Given the description of an element on the screen output the (x, y) to click on. 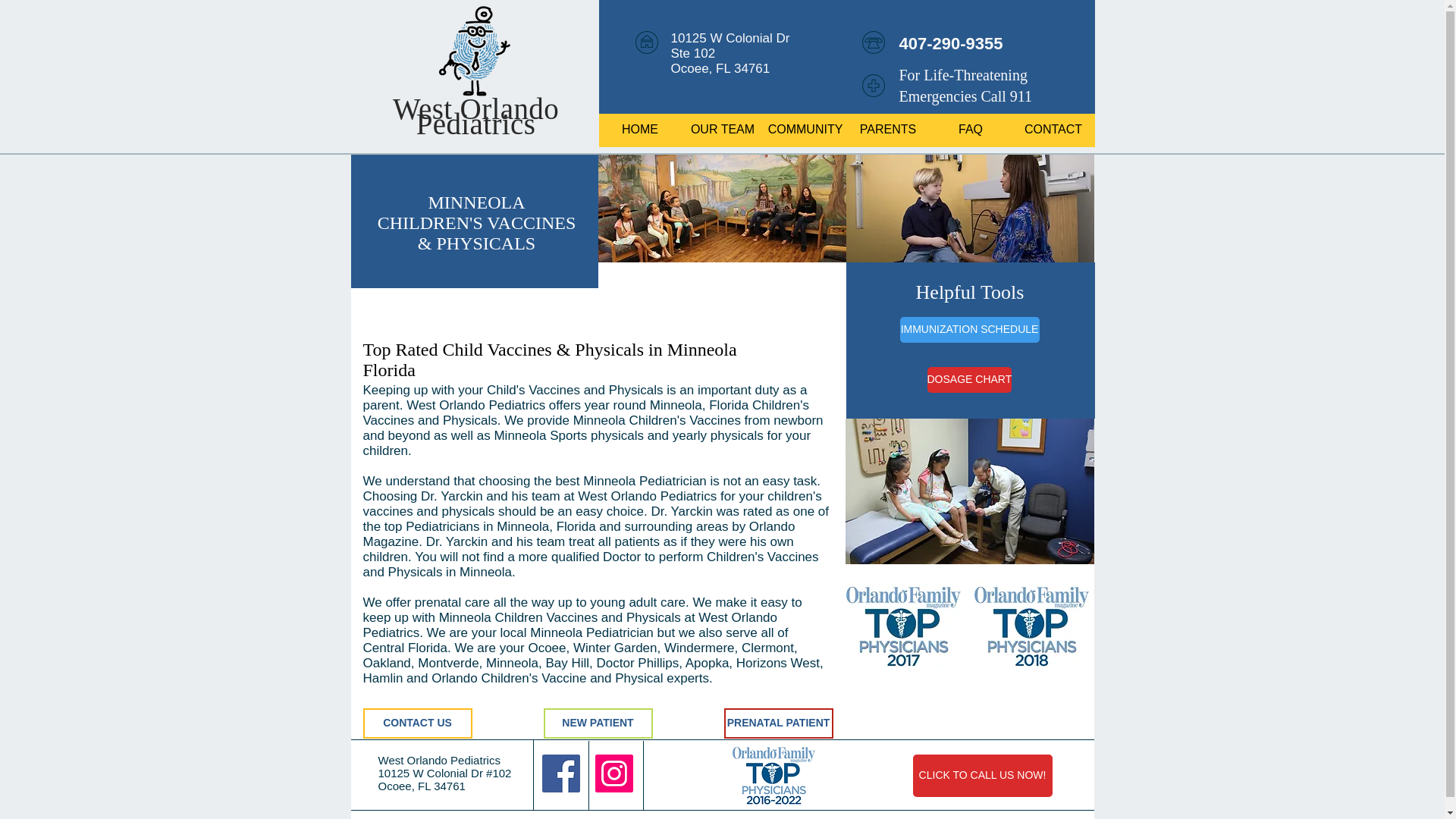
407-290-9355 (951, 43)
PARENTS (886, 129)
DOSAGE CHART (968, 379)
FAQ (970, 129)
NEW PATIENT (597, 723)
COMMUNITY (805, 129)
IMMUNIZATION SCHEDULE (969, 329)
CLICK TO CALL US NOW! (982, 775)
CONTACT US (416, 723)
OUR TEAM (721, 129)
HOME (639, 129)
CONTACT (1052, 129)
PRENATAL PATIENT (777, 723)
